Given the description of an element on the screen output the (x, y) to click on. 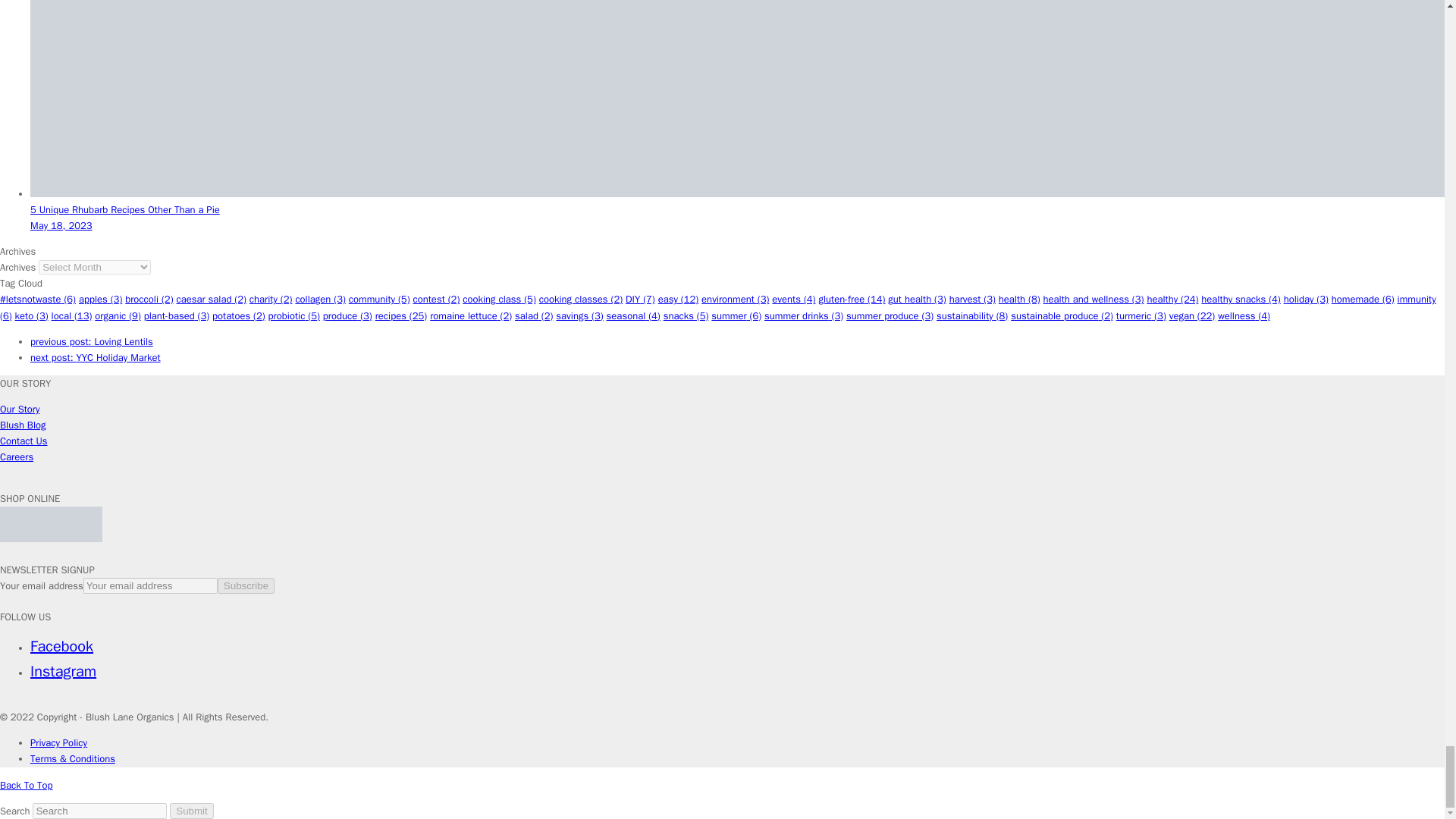
Facebook (61, 646)
Instagram (63, 670)
